Given the description of an element on the screen output the (x, y) to click on. 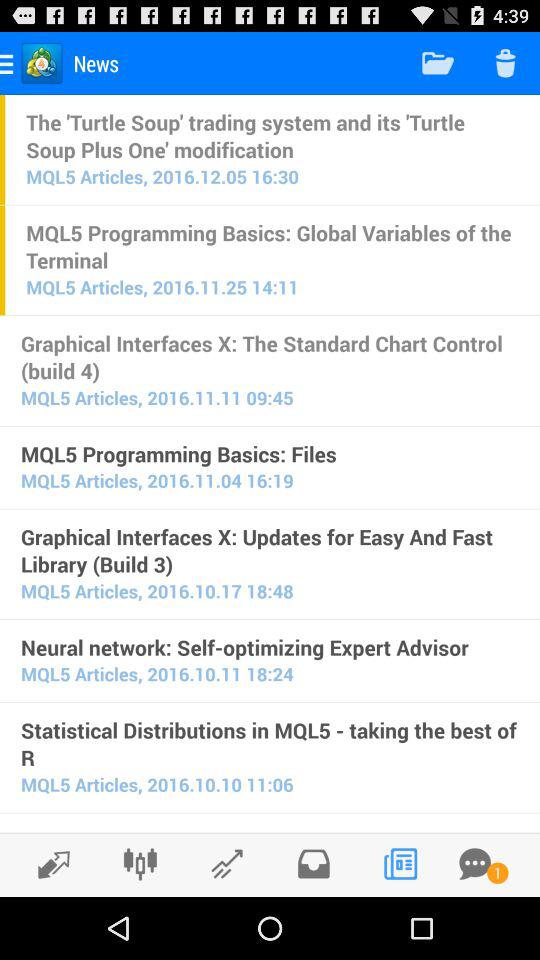
click quick evaluation of icon (270, 829)
